Given the description of an element on the screen output the (x, y) to click on. 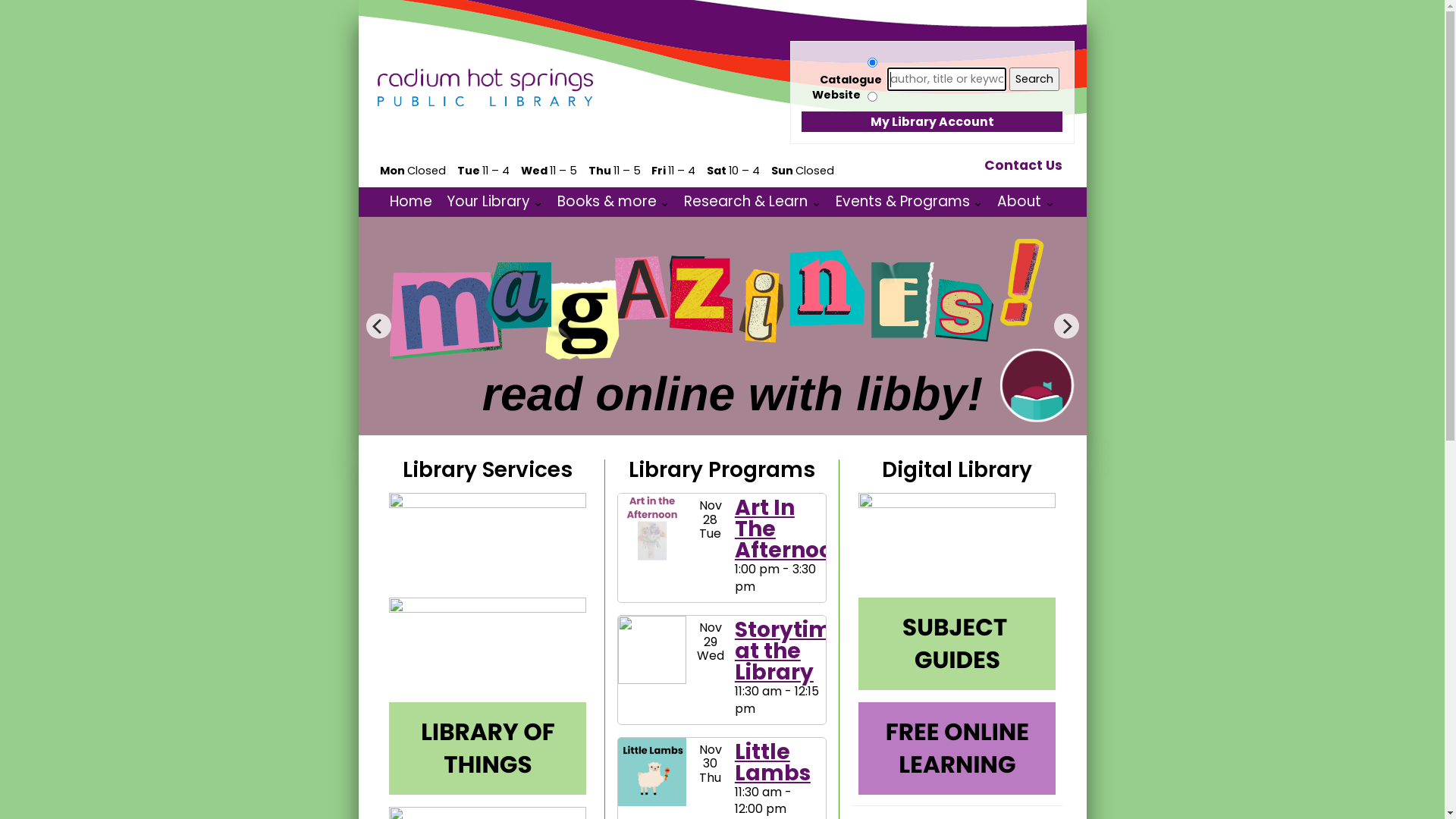
Little Lambs Element type: text (772, 762)
Storytime at the Library Element type: text (789, 651)
Contact Us Element type: text (1023, 165)
My Library Account Element type: text (931, 121)
Event Series Element type: hover (763, 708)
Event Series Element type: hover (794, 808)
Home Element type: text (410, 201)
Search Element type: text (1034, 79)
Art In The Afternoon Element type: text (790, 528)
Event Series Element type: hover (763, 586)
